Given the description of an element on the screen output the (x, y) to click on. 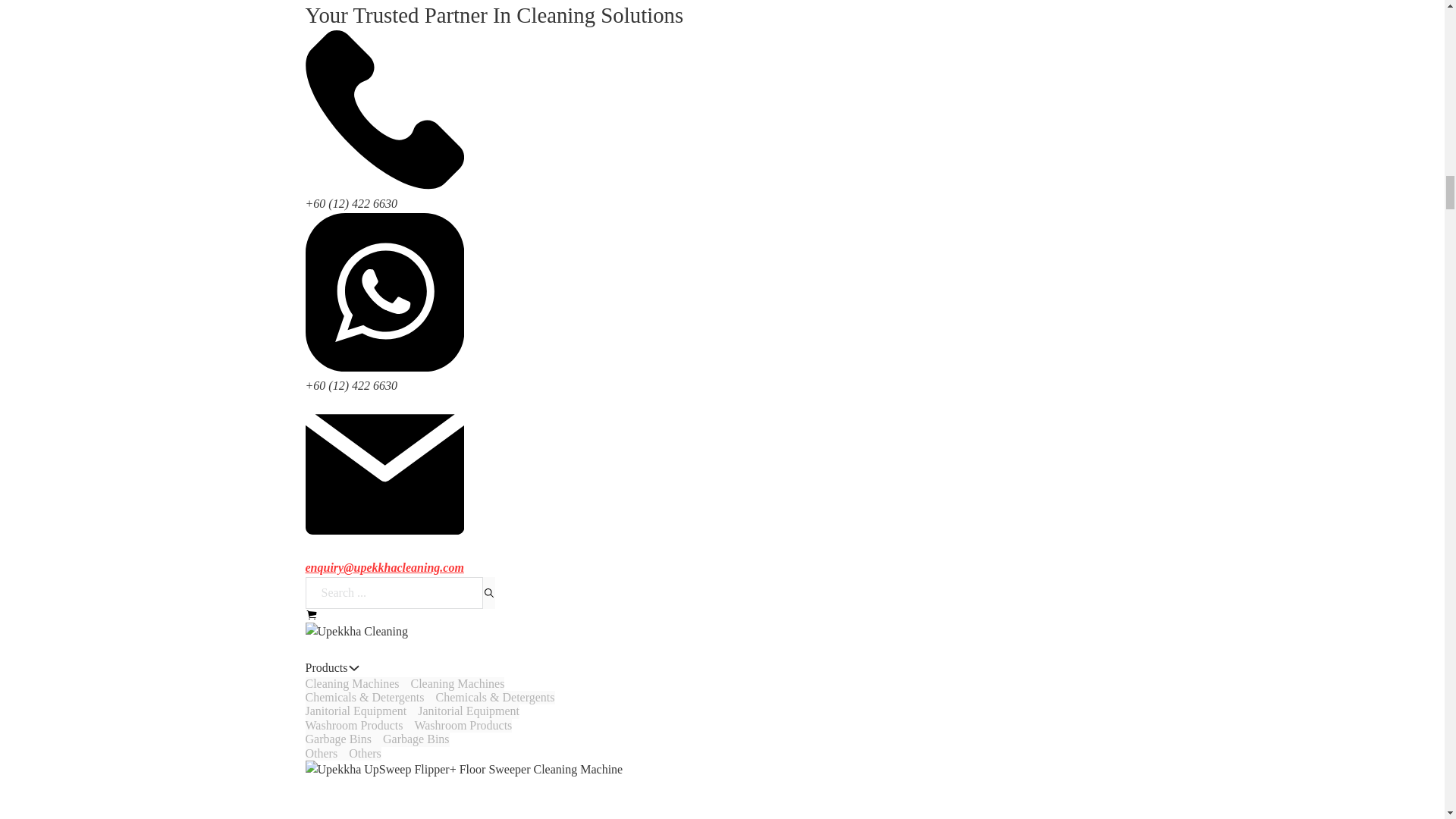
Skincare (325, 773)
Floor Coating (338, 172)
Laundry Care (337, 473)
